Given the description of an element on the screen output the (x, y) to click on. 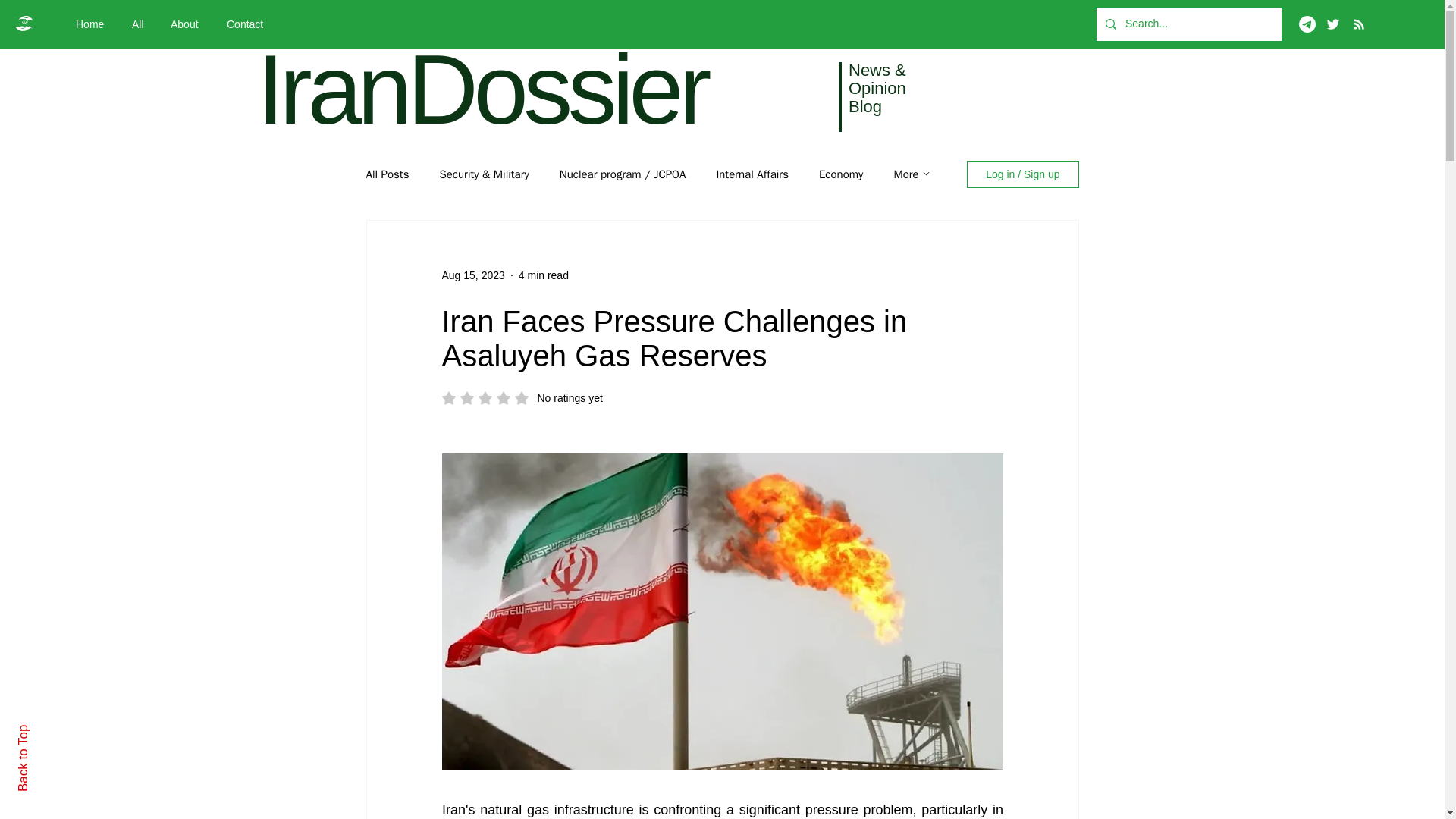
About (186, 24)
IranDossier (481, 89)
4 min read (543, 274)
Internal Affairs (752, 173)
All (139, 24)
Economy (840, 173)
Contact (248, 24)
Aug 15, 2023 (472, 274)
All Posts (521, 397)
